Given the description of an element on the screen output the (x, y) to click on. 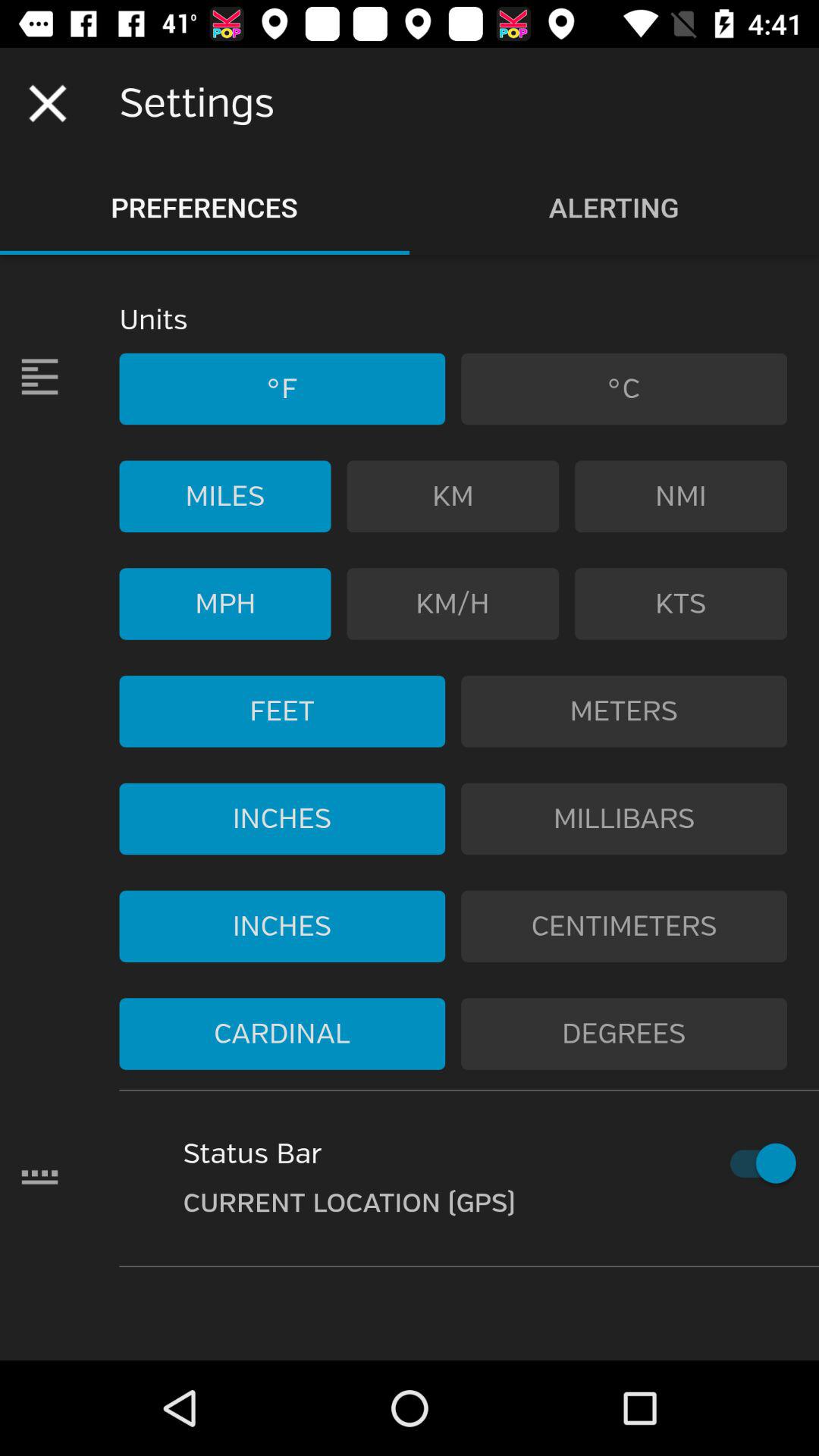
tap the icon to the left of degrees item (282, 1033)
